Given the description of an element on the screen output the (x, y) to click on. 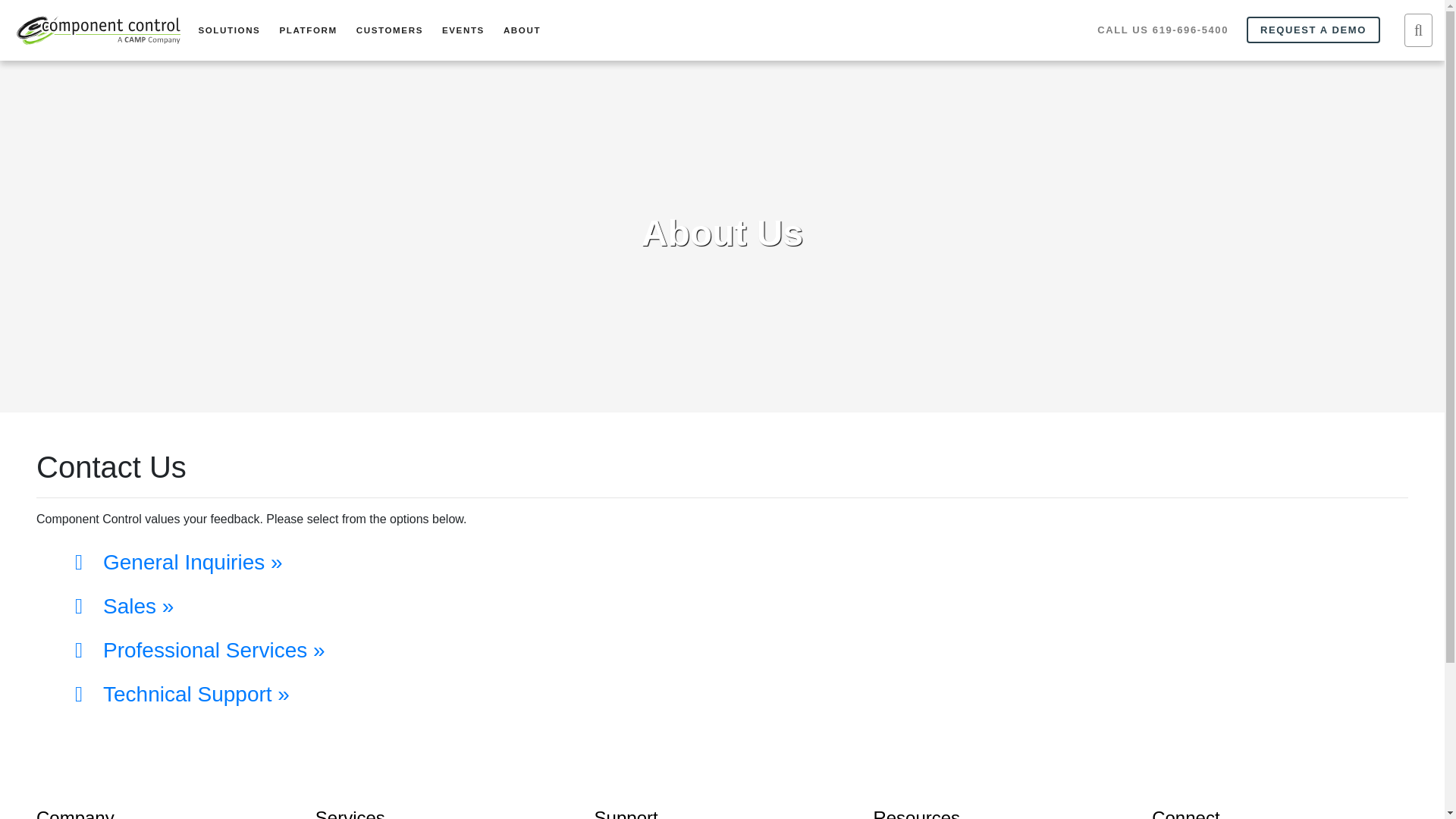
PLATFORM (311, 29)
SOLUTIONS (232, 29)
CUSTOMERS (392, 29)
